Given the description of an element on the screen output the (x, y) to click on. 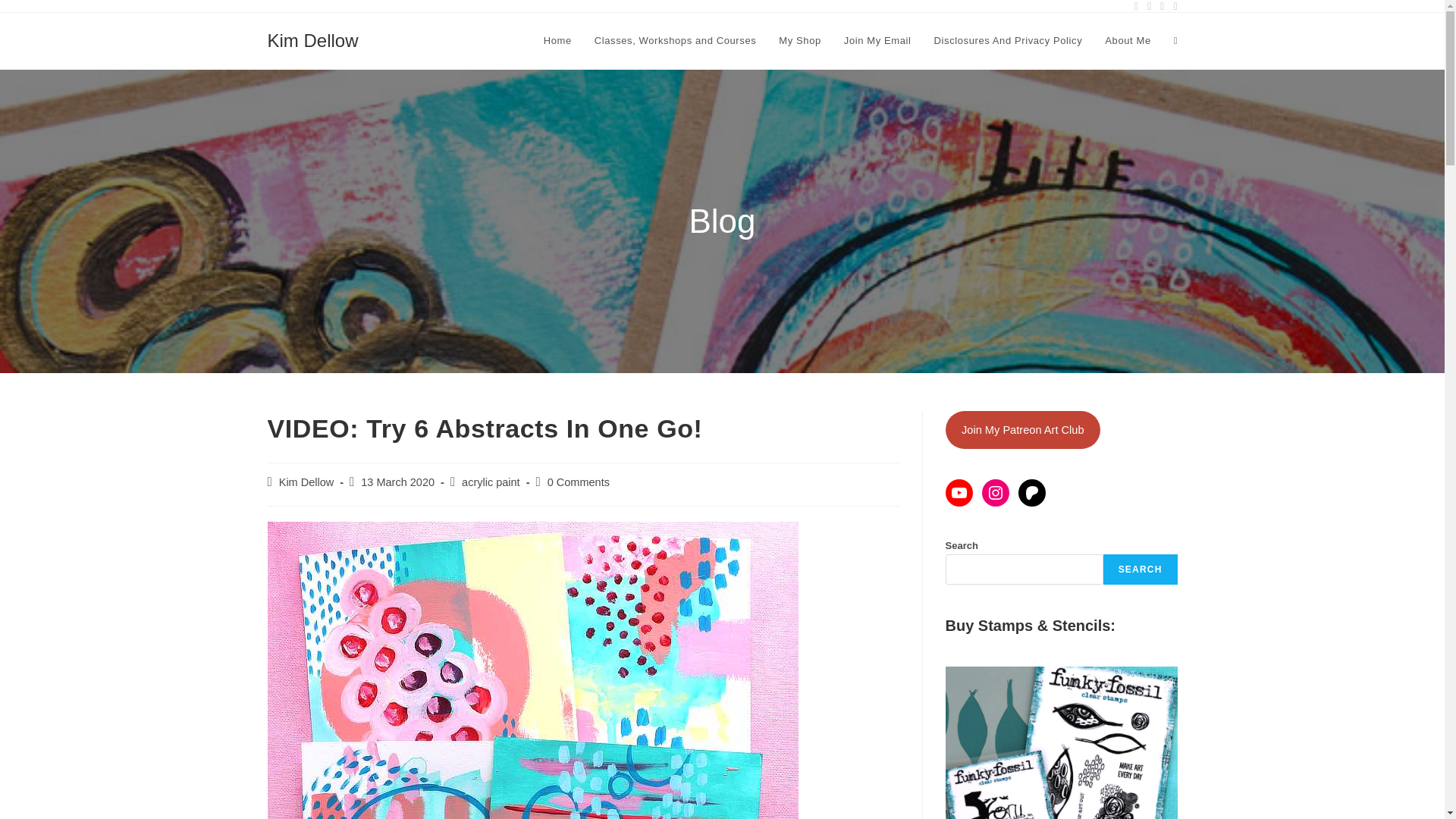
Kim Dellow (312, 40)
About Me (1127, 40)
Posts by Kim Dellow (306, 481)
Home (557, 40)
My Shop (799, 40)
0 Comments (578, 481)
Join My Email (877, 40)
Classes, Workshops and Courses (675, 40)
Disclosures And Privacy Policy (1008, 40)
